Given the description of an element on the screen output the (x, y) to click on. 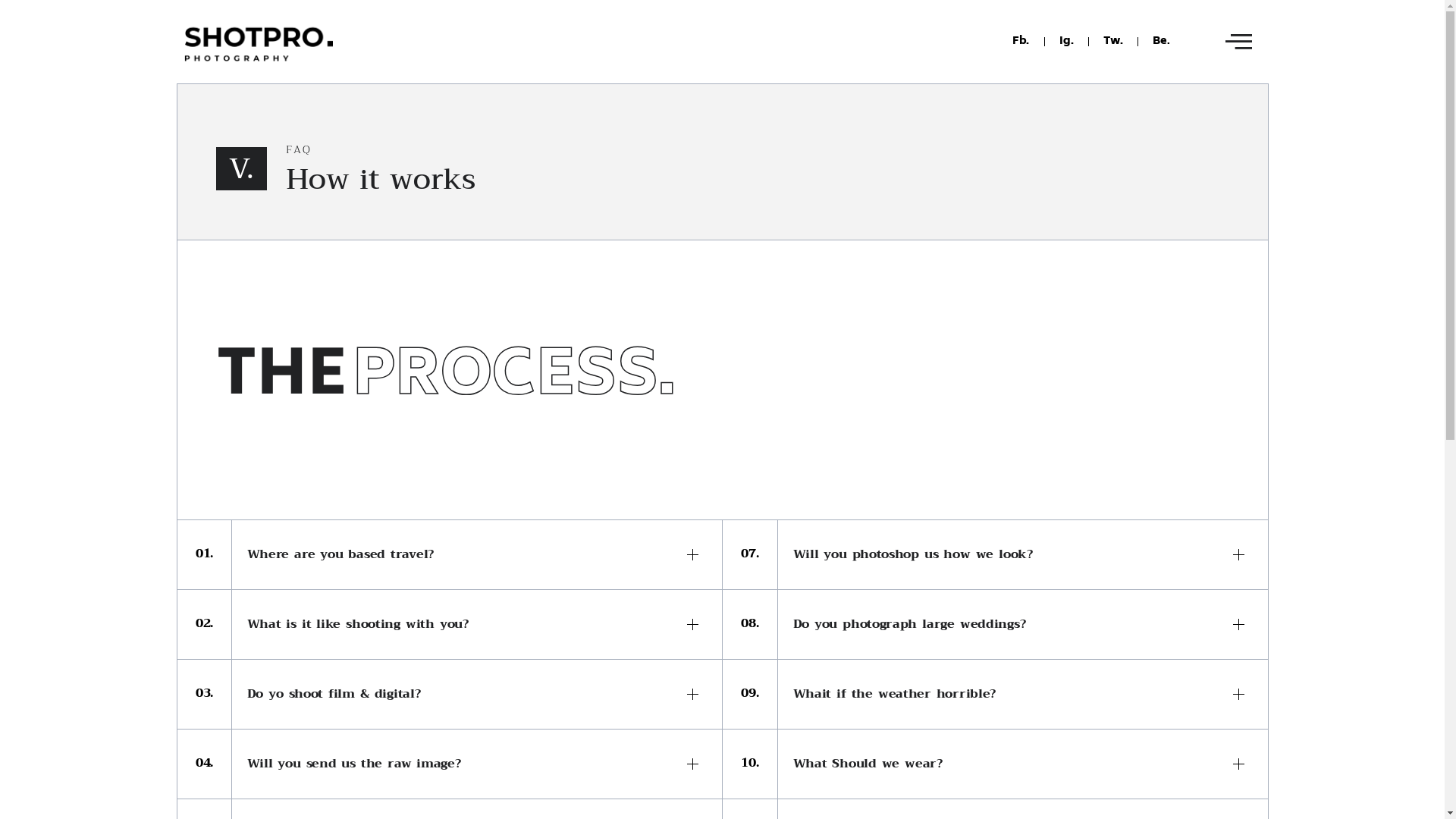
Where are you based travel? Element type: text (476, 554)
Do you photograph large weddings? Element type: text (1022, 624)
Will you send us the raw image? Element type: text (476, 763)
What Should we wear? Element type: text (1022, 763)
Whait if the weather horrible? Element type: text (1022, 694)
Will you photoshop us how we look? Element type: text (1022, 554)
What is it like shooting with you? Element type: text (476, 624)
Do yo shoot film & digital? Element type: text (476, 694)
